Given the description of an element on the screen output the (x, y) to click on. 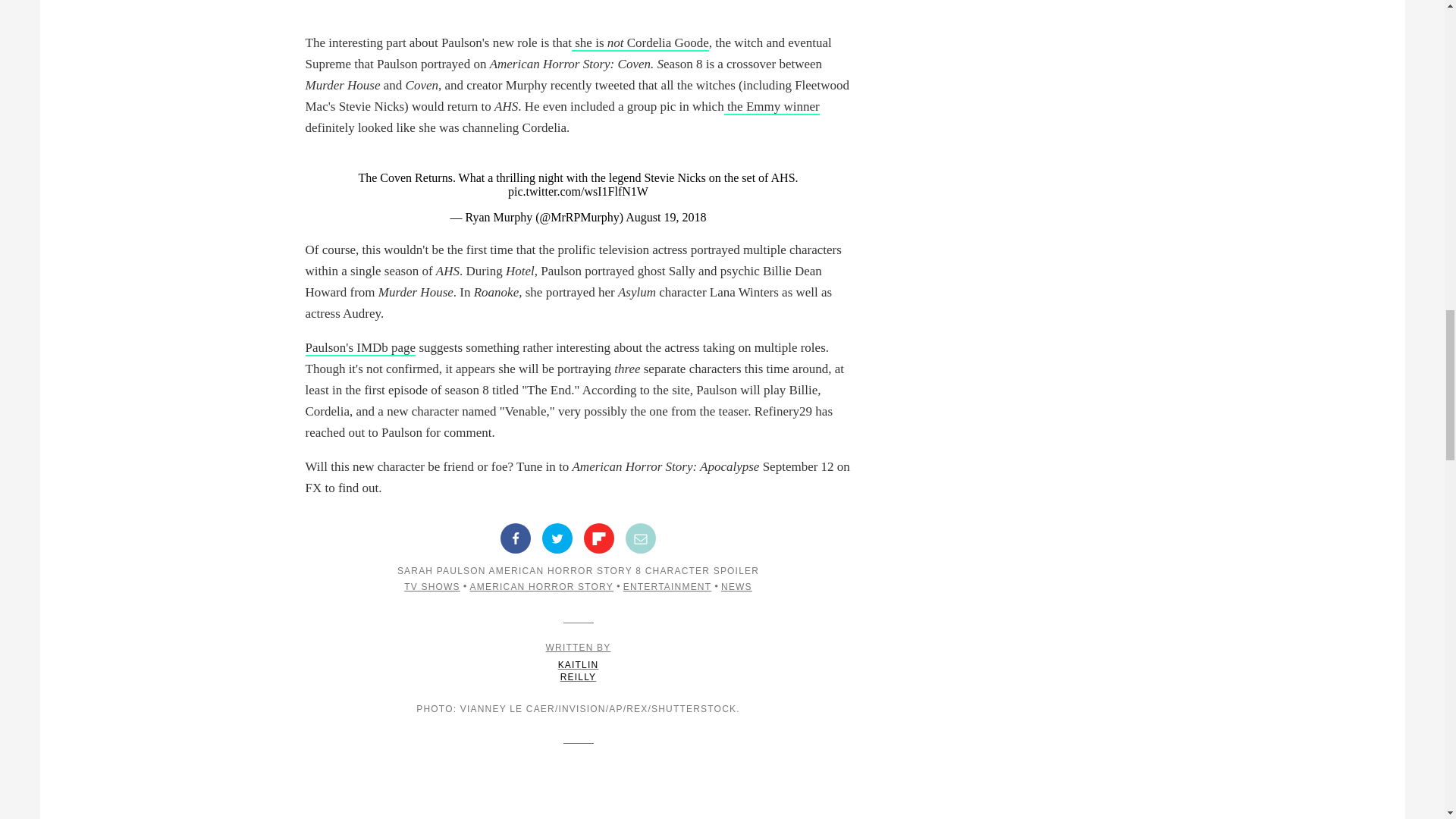
August 19, 2018 (666, 216)
Share on Twitter (556, 538)
Share by Email (641, 538)
she is not Cordelia Goode (640, 43)
Paulson's IMDb page (359, 348)
Share on Flipboard (598, 538)
the Emmy winner (771, 107)
